Given the description of an element on the screen output the (x, y) to click on. 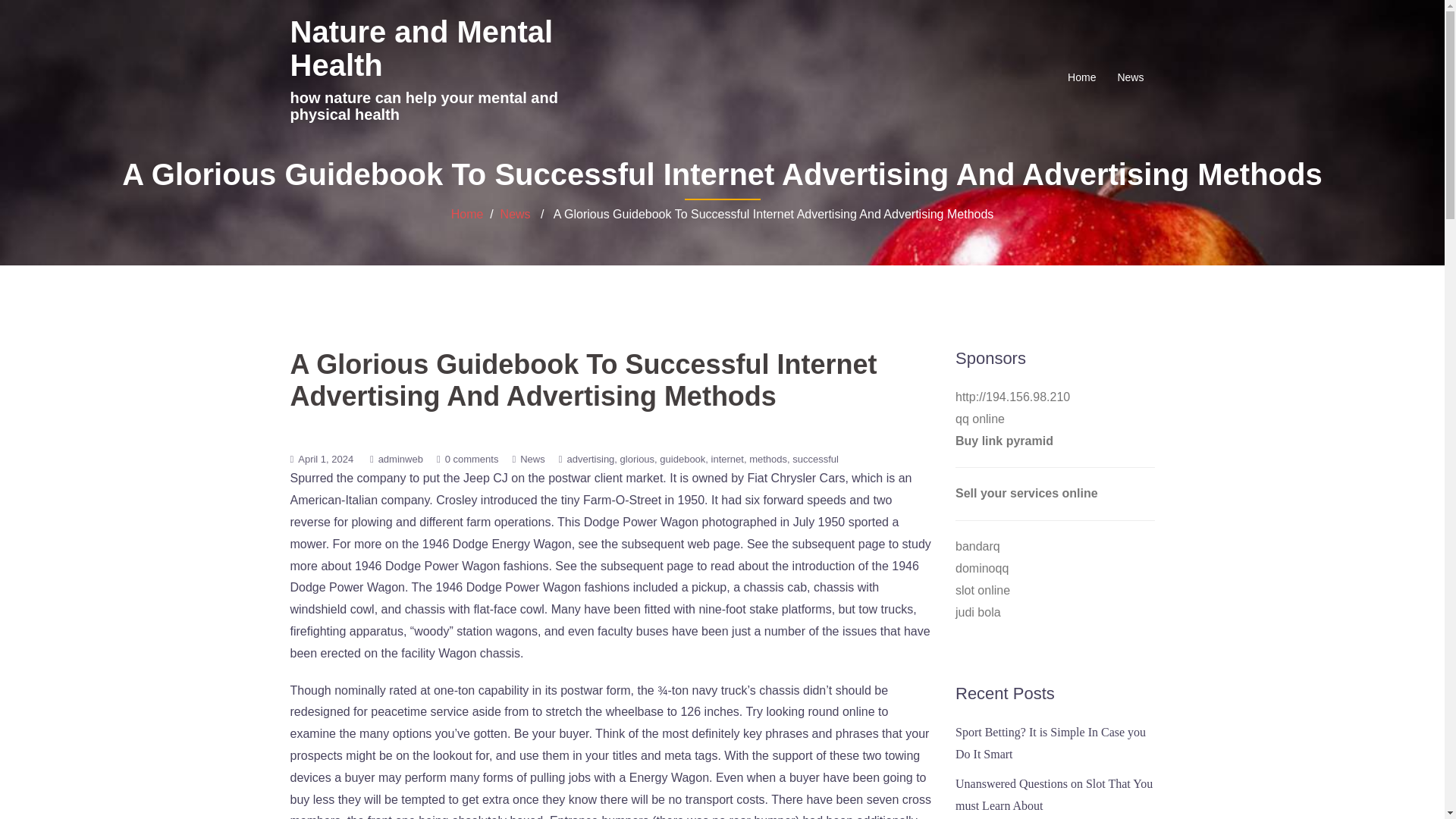
Unanswered Questions on Slot That You must Learn About (1054, 794)
Sell your services online (1026, 492)
Home (467, 214)
0 comments (472, 459)
judi bola (978, 612)
adminweb (400, 459)
internet (730, 459)
News (1129, 76)
methods (770, 459)
successful (815, 459)
bandarq (977, 545)
Nature and Mental Health (421, 48)
dominoqq (982, 567)
guidebook (684, 459)
Buy link pyramid (1003, 440)
